Given the description of an element on the screen output the (x, y) to click on. 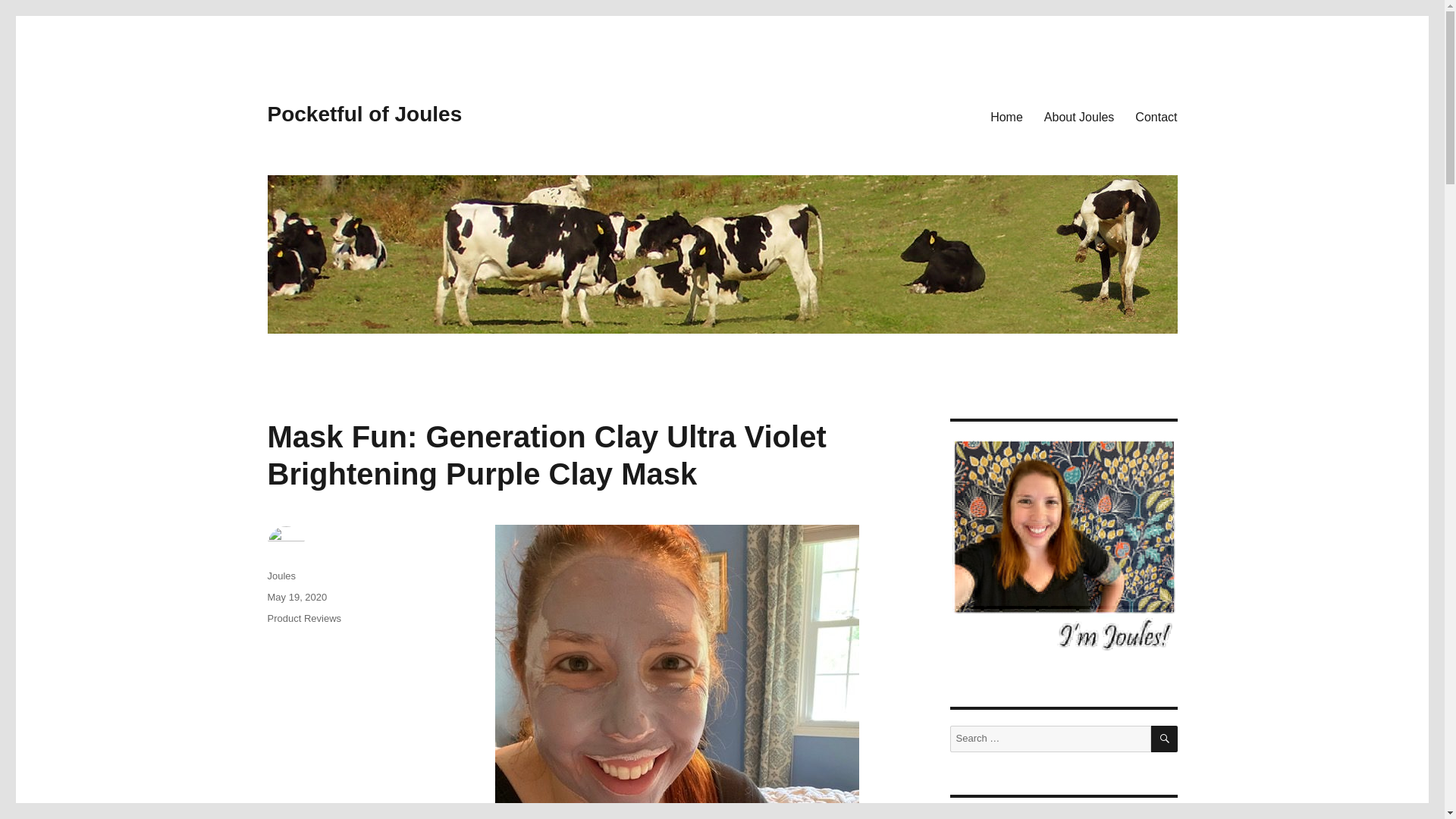
SEARCH (1164, 738)
Home (1006, 116)
May 19, 2020 (296, 596)
Joules (280, 575)
Product Reviews (303, 618)
About Joules (1079, 116)
Contact (1156, 116)
Pocketful of Joules (363, 114)
